Given the description of an element on the screen output the (x, y) to click on. 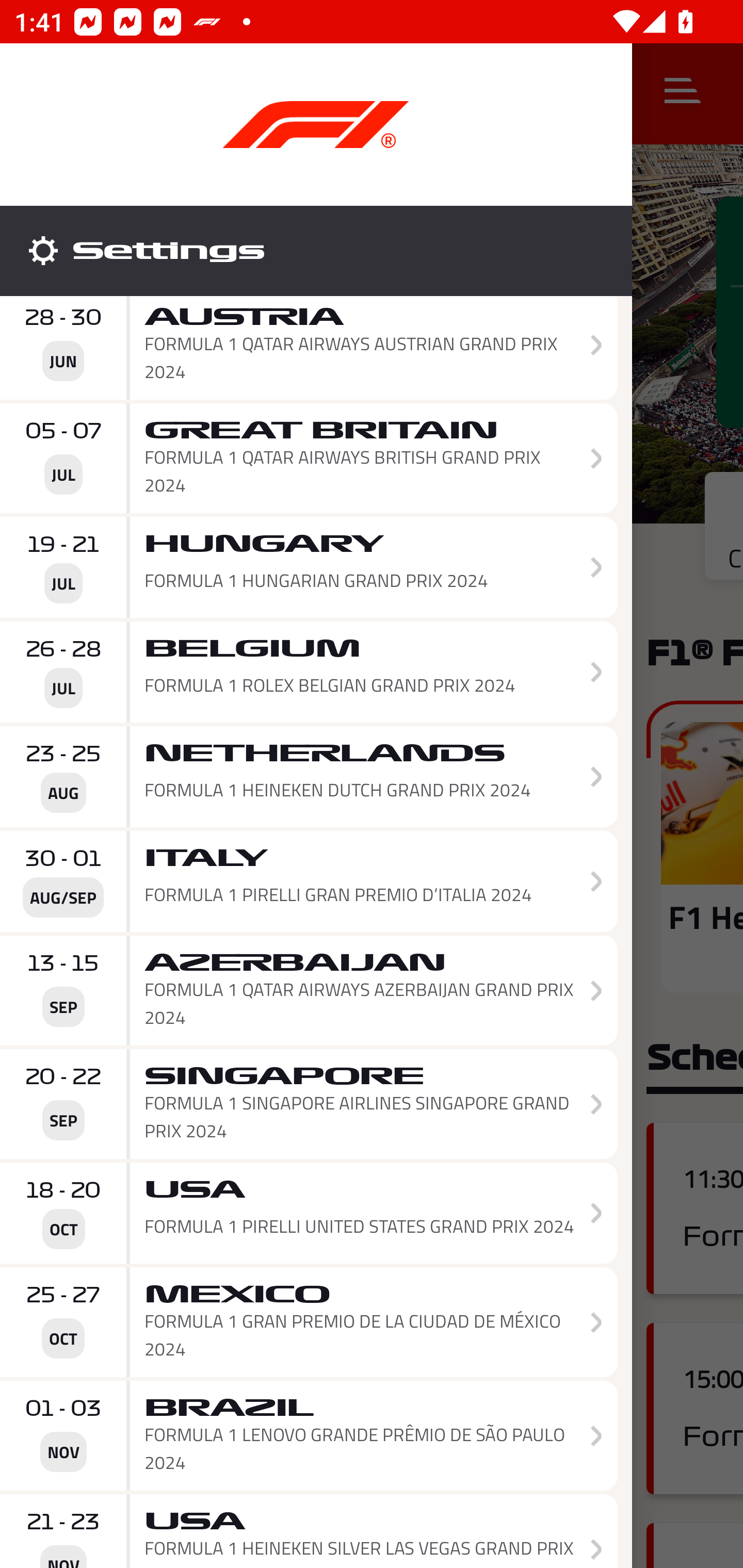
Settings (316, 250)
